Given the description of an element on the screen output the (x, y) to click on. 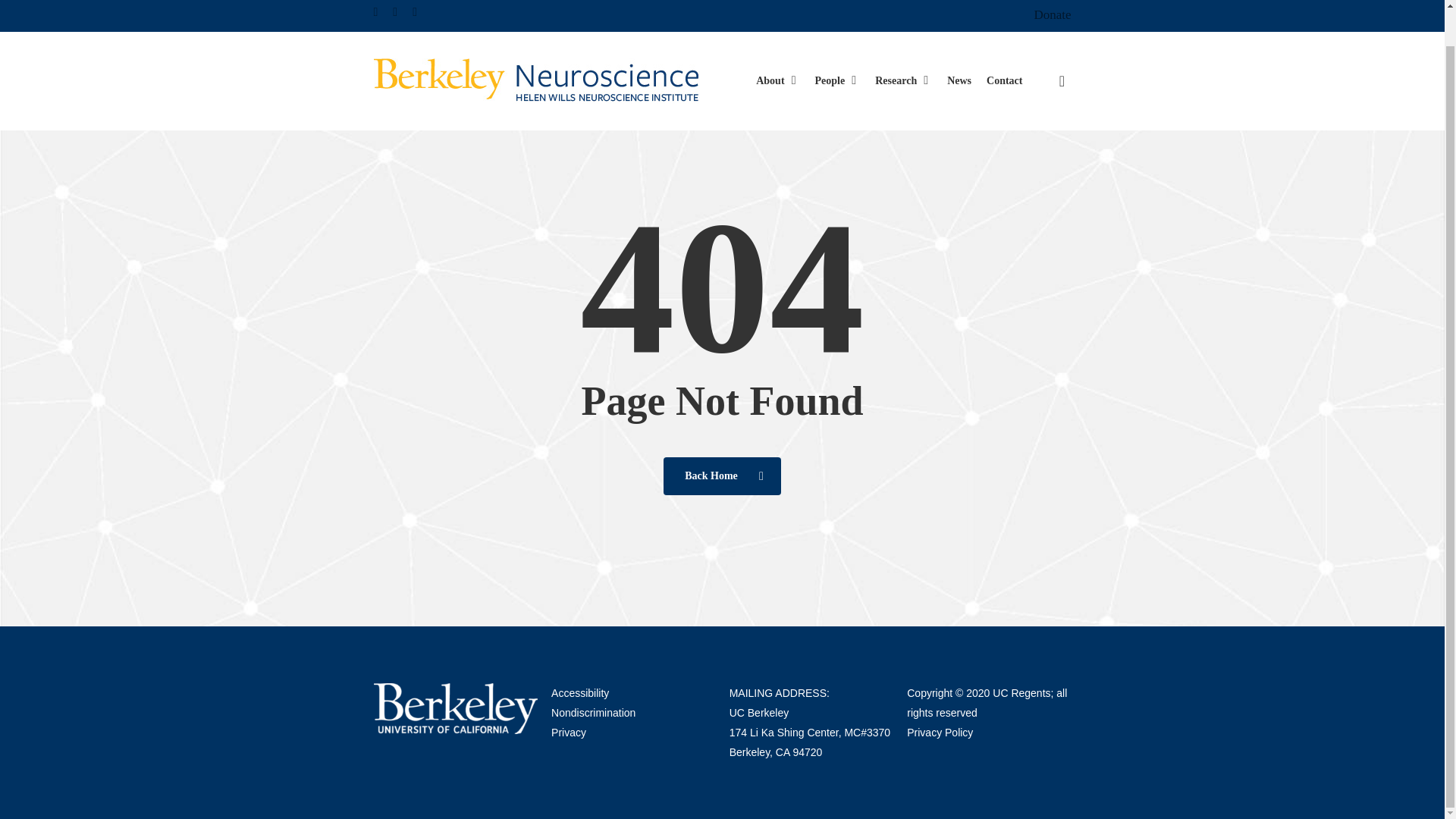
Privacy (568, 732)
Research (903, 43)
Nondiscrimination (592, 712)
search (1061, 43)
News (959, 43)
Privacy Policy (939, 732)
Accessibility (579, 693)
Contact (1004, 43)
People (837, 43)
Back Home (721, 476)
About (777, 43)
